Given the description of an element on the screen output the (x, y) to click on. 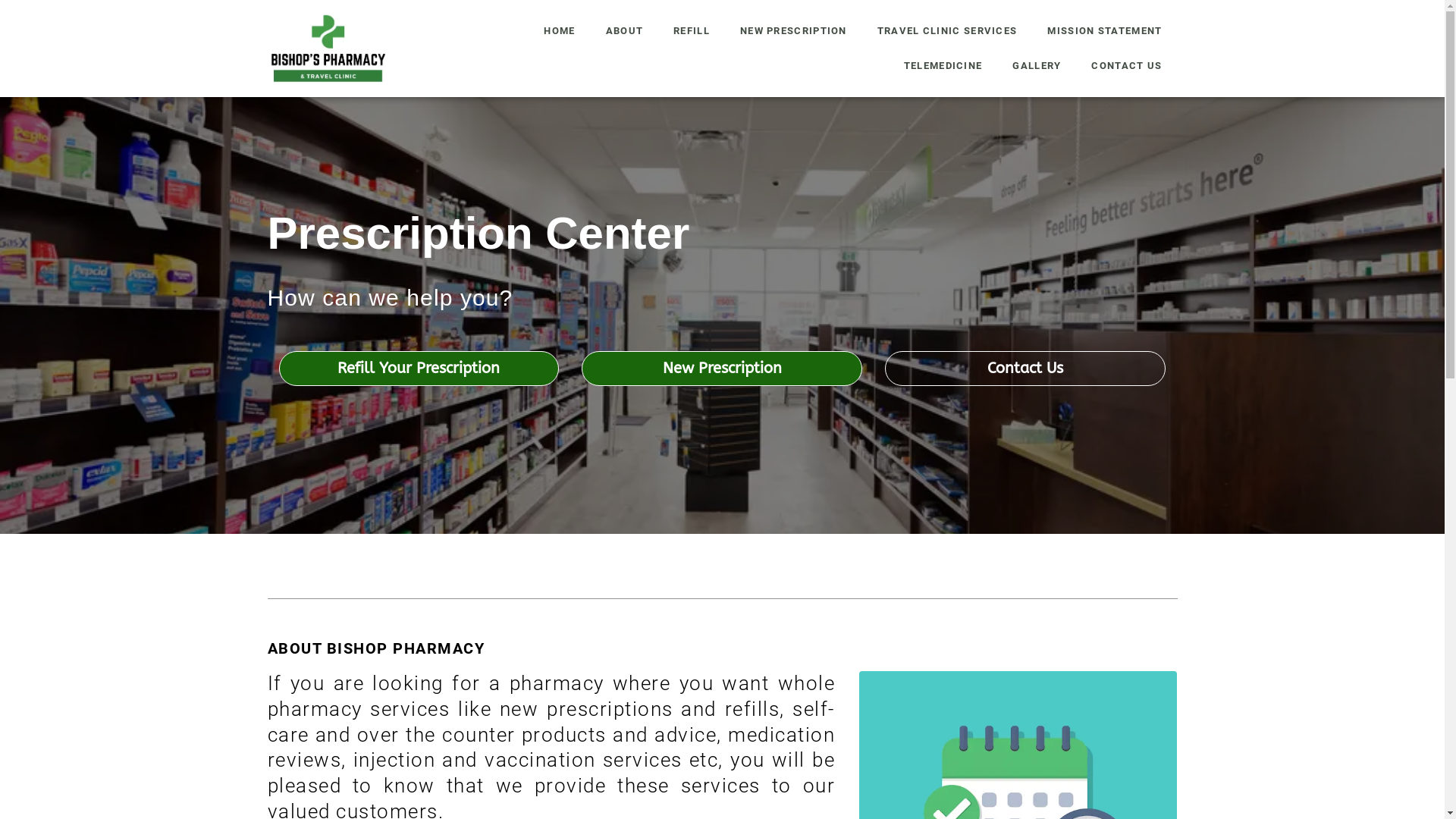
HOME Element type: text (558, 30)
TRAVEL CLINIC SERVICES Element type: text (947, 30)
TELEMEDICINE Element type: text (942, 65)
Refill Your Prescription Element type: text (419, 368)
Contact Us Element type: text (1024, 368)
CONTACT US Element type: text (1126, 65)
Skip to content Element type: text (15, 31)
REFILL Element type: text (691, 30)
ABOUT Element type: text (624, 30)
MISSION STATEMENT Element type: text (1104, 30)
NEW PRESCRIPTION Element type: text (793, 30)
New Prescription Element type: text (721, 368)
GALLERY Element type: text (1036, 65)
